Given the description of an element on the screen output the (x, y) to click on. 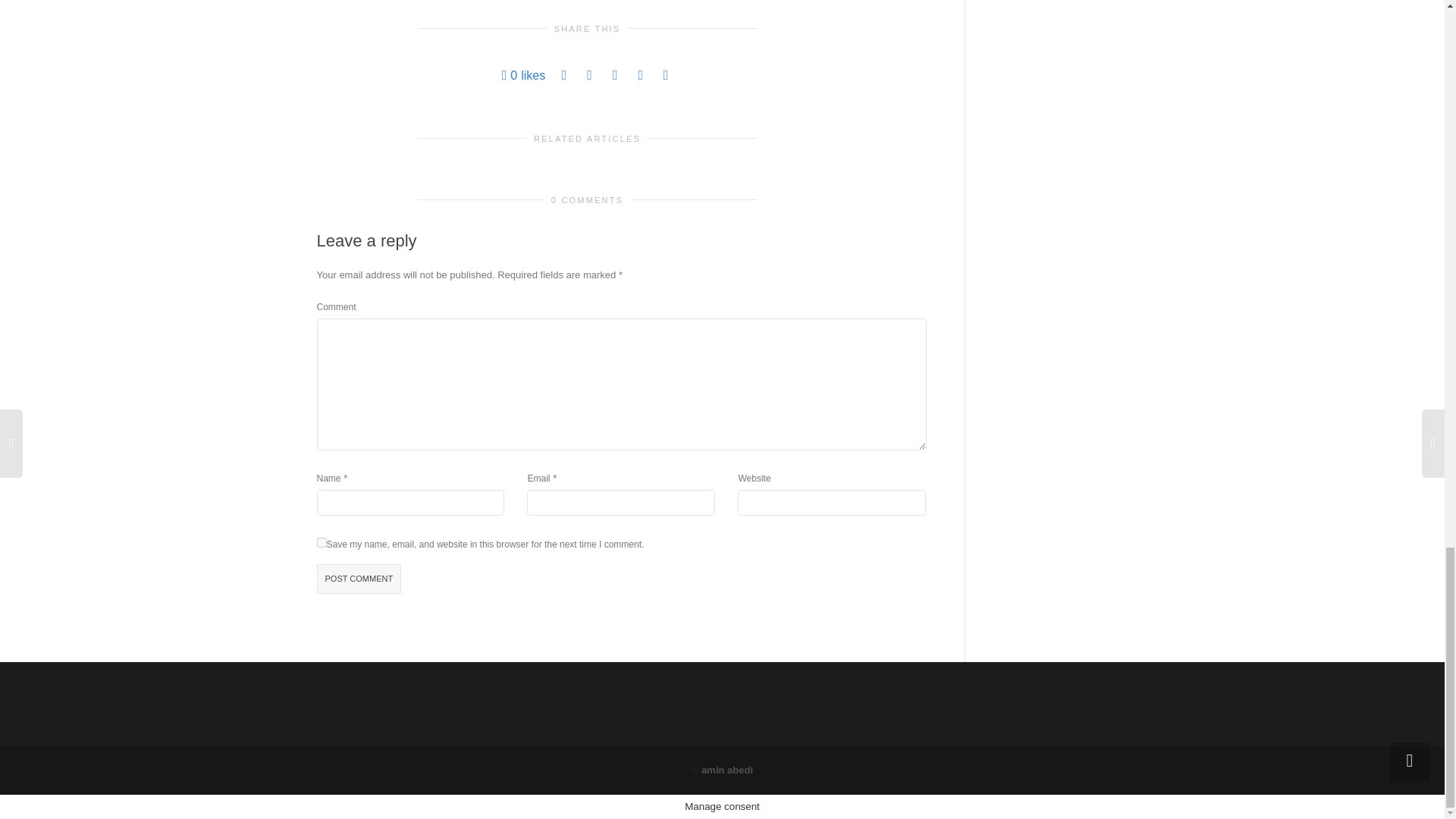
Post comment (359, 578)
0 likes (524, 75)
yes (321, 542)
Like this (524, 75)
